Given the description of an element on the screen output the (x, y) to click on. 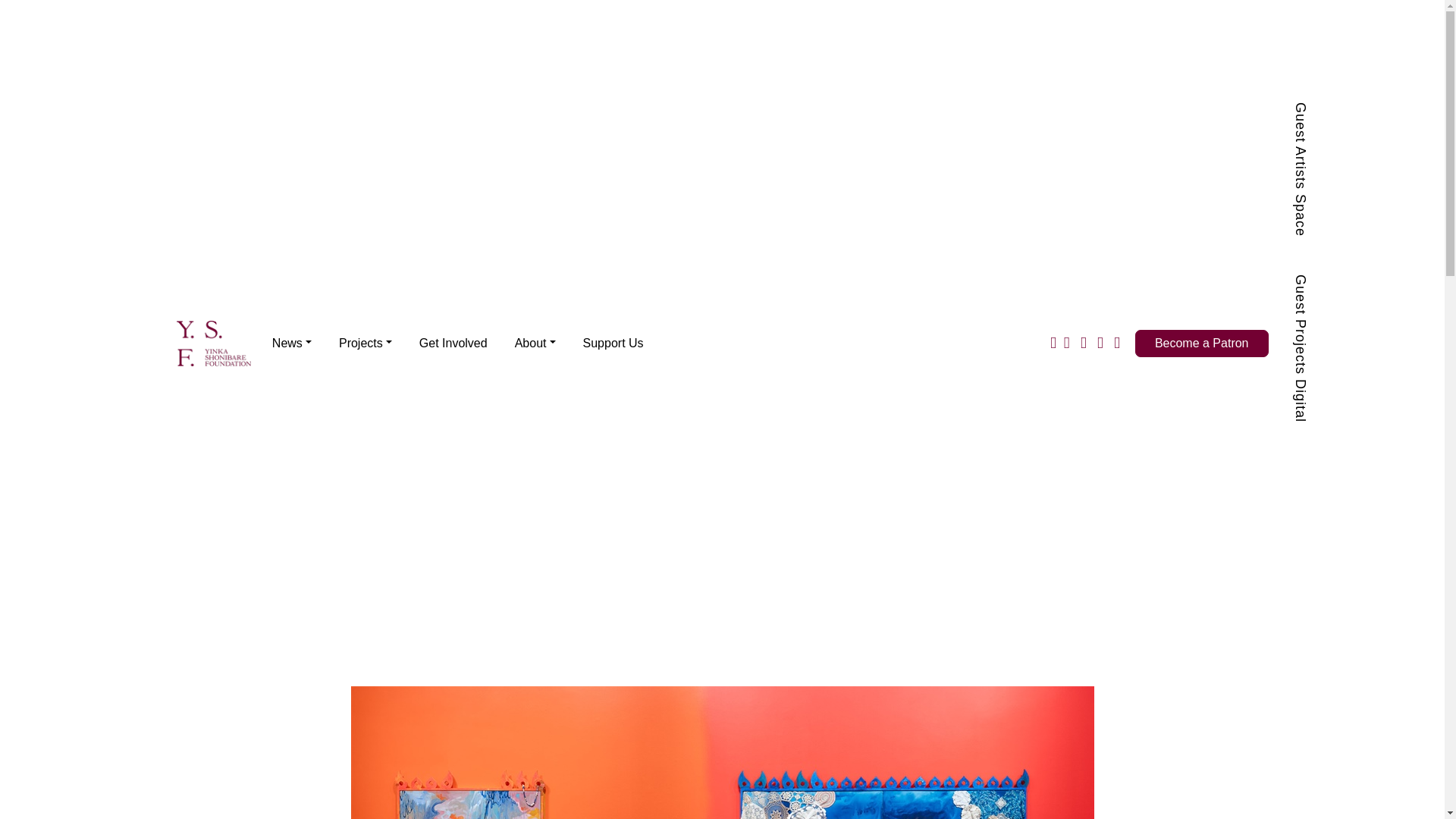
News (291, 342)
ysf (213, 341)
Projects (365, 342)
Become a Patron (1201, 342)
Support Us (612, 342)
Get Involved (453, 342)
About (535, 342)
